Given the description of an element on the screen output the (x, y) to click on. 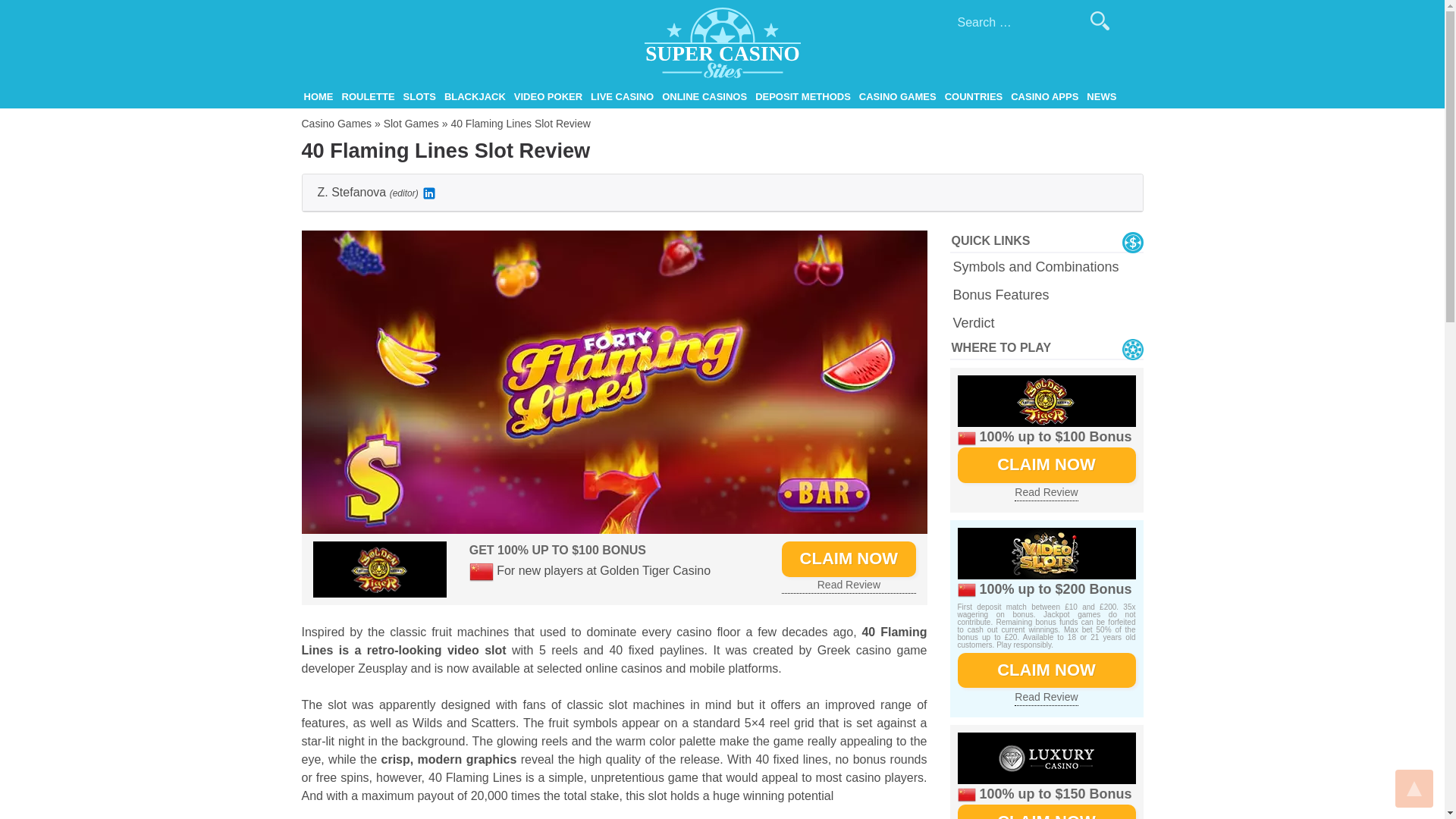
CLAIM NOW (848, 558)
BLACKJACK (475, 96)
DEPOSIT METHODS (802, 96)
Bonus Features (1047, 295)
CASINO GAMES (898, 96)
COUNTRIES (974, 96)
VIDEO POKER (548, 96)
Symbols and Combinations (1047, 267)
Casino Games (336, 122)
ONLINE CASINOS (704, 96)
LIVE CASINO (622, 96)
Slot Games (411, 122)
Verdict (1047, 322)
Super Casino Sites (353, 93)
Read Review (848, 585)
